Given the description of an element on the screen output the (x, y) to click on. 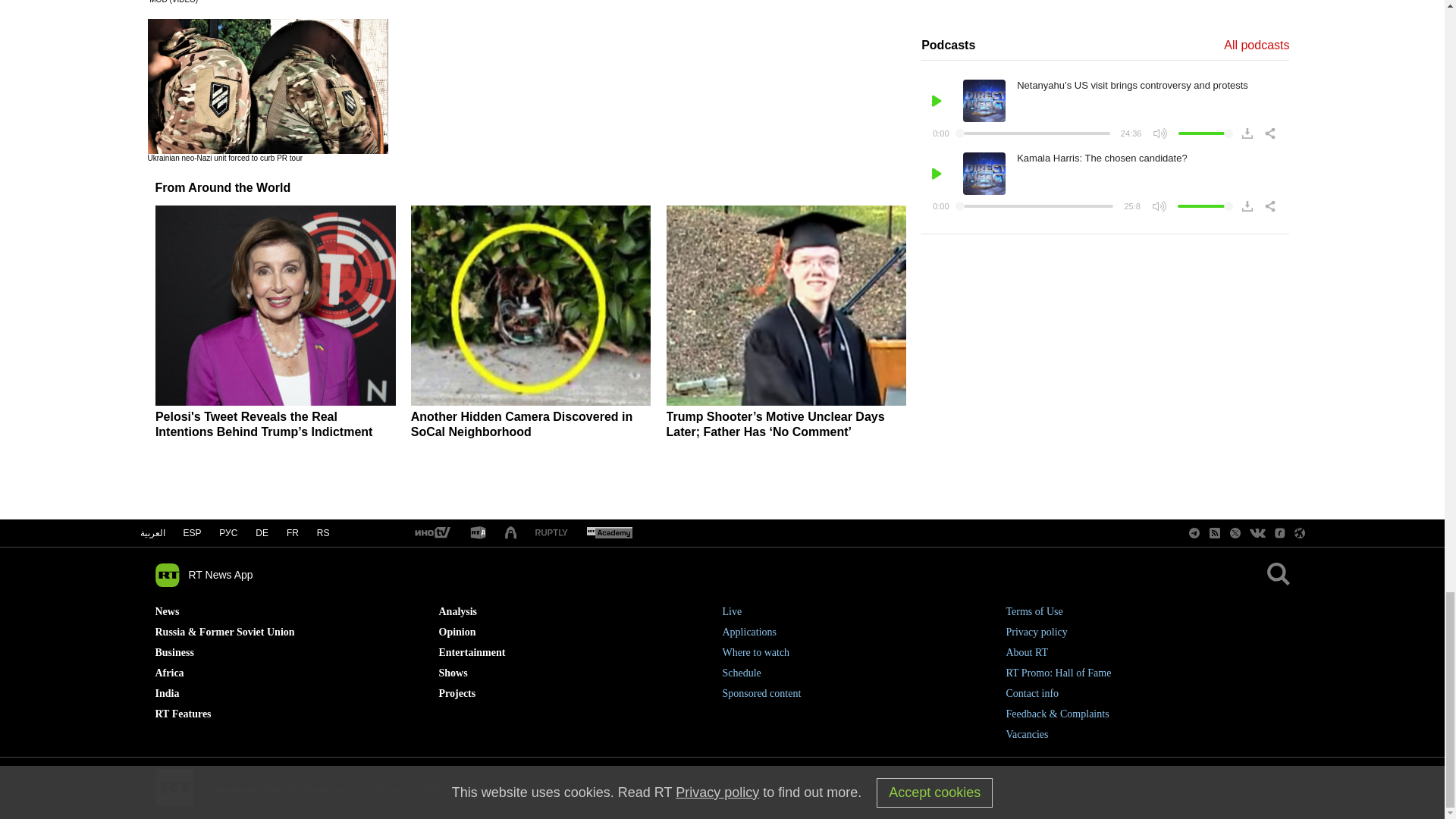
RT  (551, 533)
RT  (431, 533)
RT  (478, 533)
RT  (608, 533)
